Given the description of an element on the screen output the (x, y) to click on. 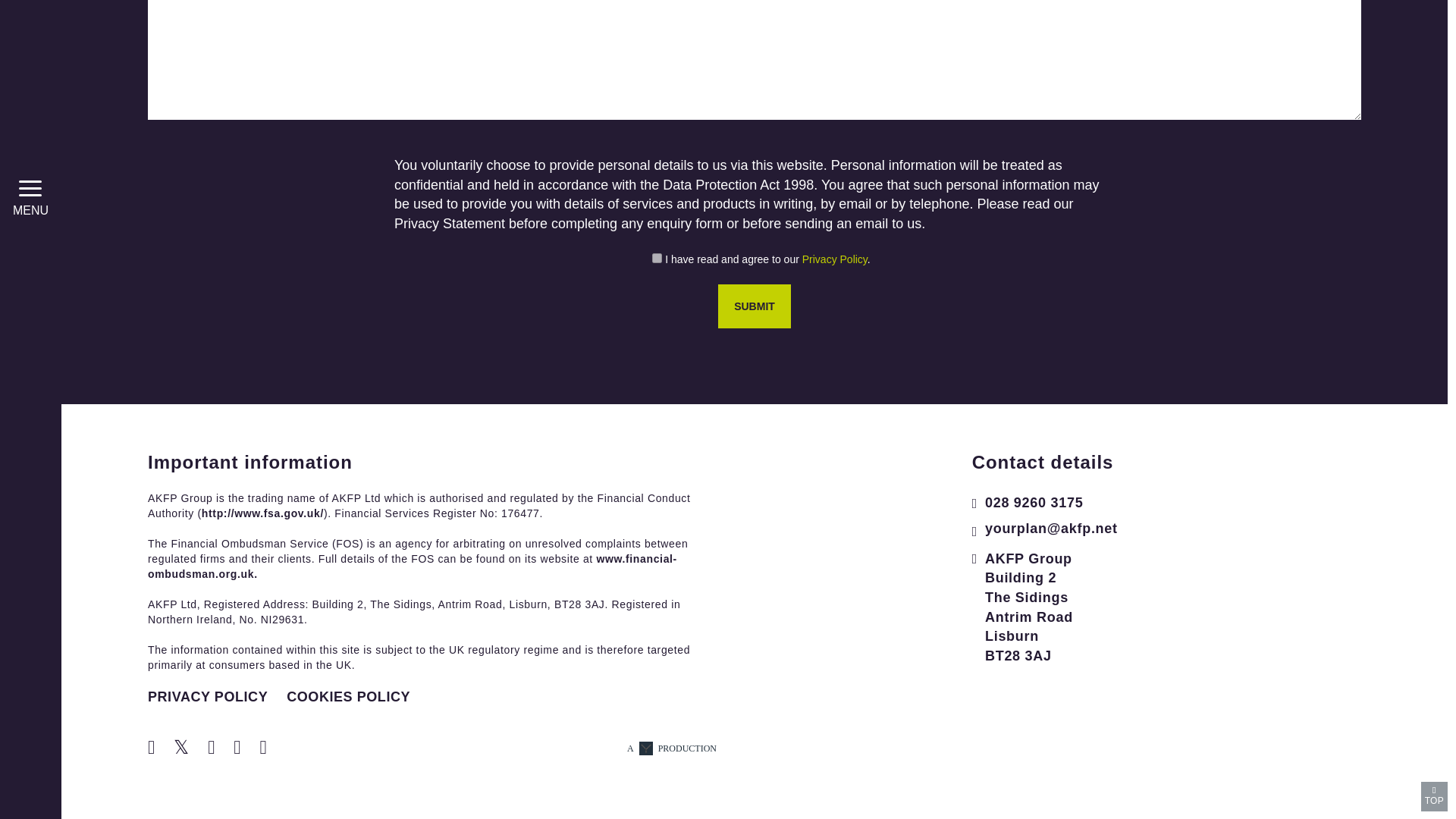
1 (657, 257)
The Yardstick Agency (671, 748)
